Given the description of an element on the screen output the (x, y) to click on. 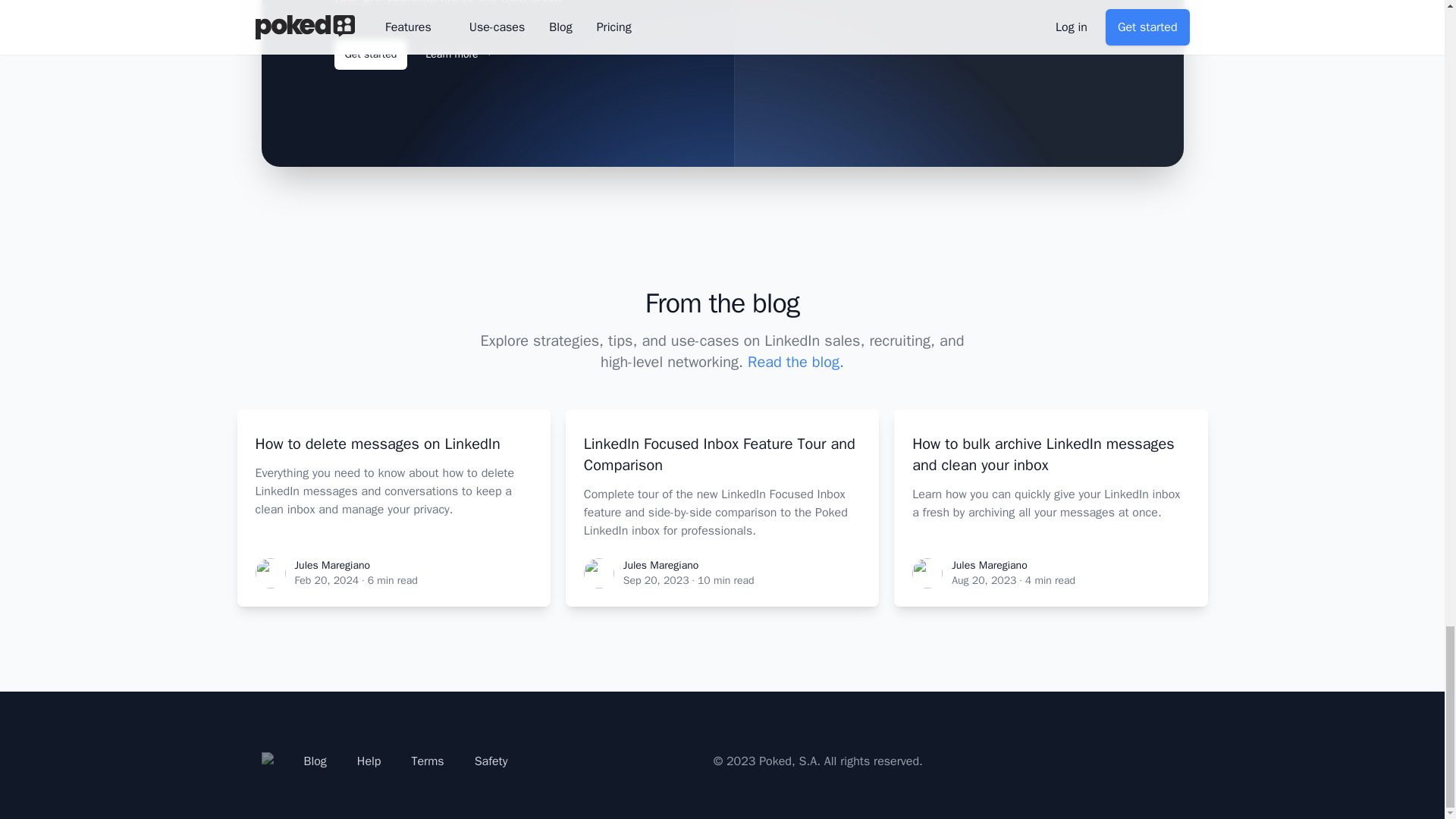
Help (368, 761)
Read the blog. (796, 361)
Terms (427, 761)
Safety (491, 761)
Get started (370, 54)
Blog (314, 761)
